Given the description of an element on the screen output the (x, y) to click on. 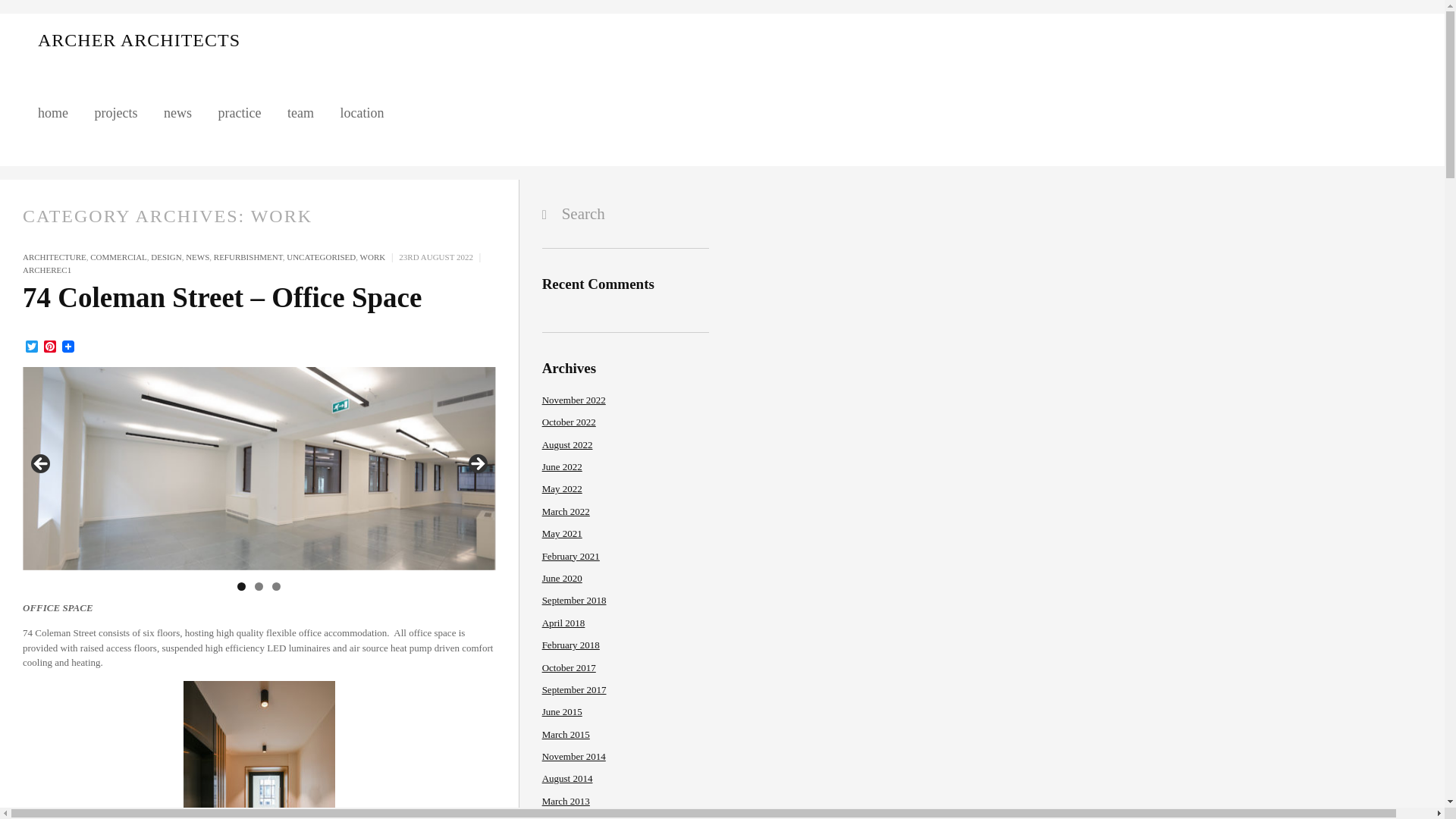
UNCATEGORISED (320, 256)
1 (241, 586)
COMMERCIAL (118, 256)
3 (276, 586)
2 (258, 586)
DESIGN (165, 256)
NEWS (197, 256)
news (177, 113)
practice (238, 113)
Twitter (31, 347)
View all posts by archerEC1 (47, 269)
home (52, 113)
ARCHEREC1 (47, 269)
Next (476, 464)
REFURBISHMENT (248, 256)
